Given the description of an element on the screen output the (x, y) to click on. 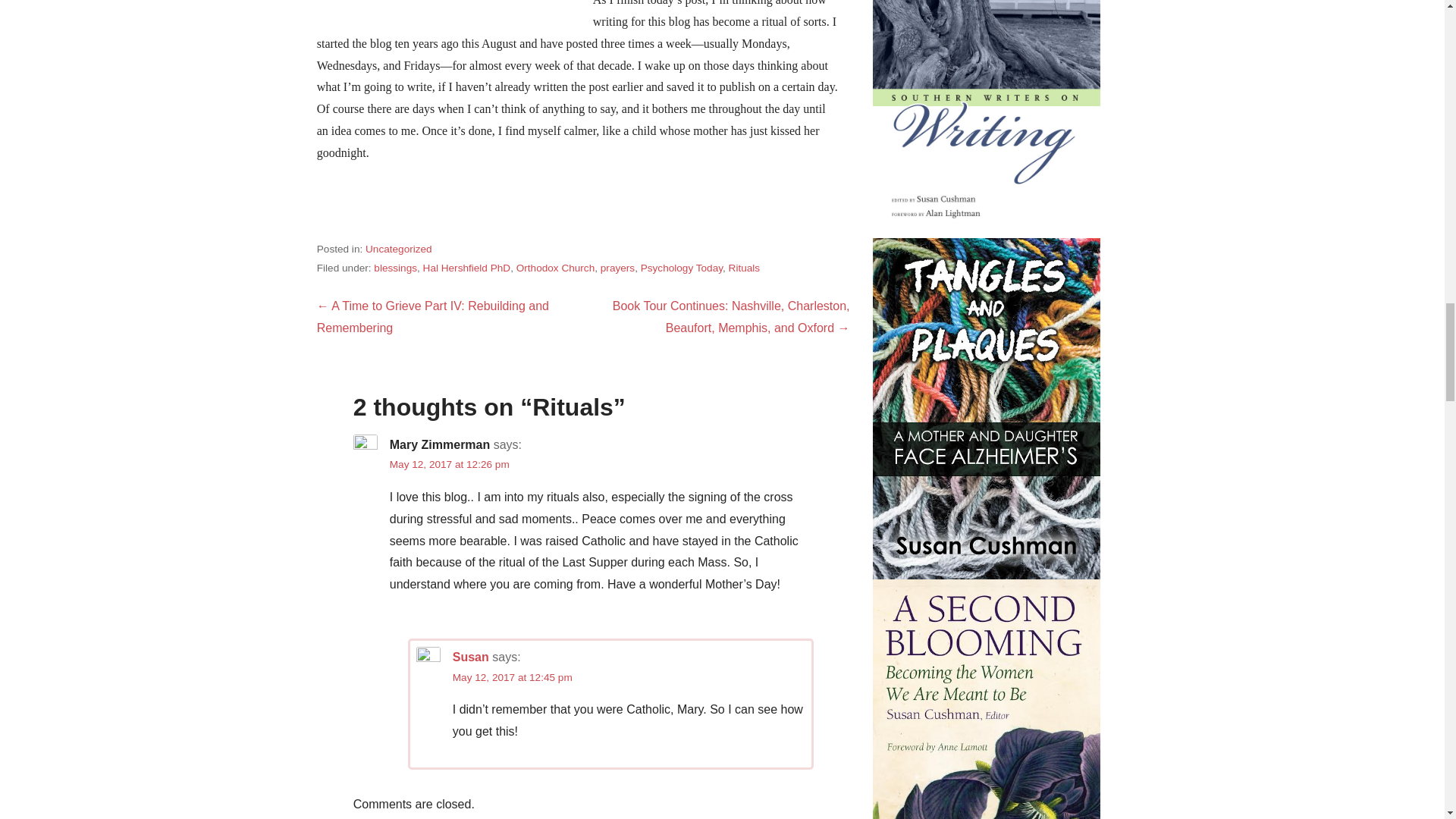
May 12, 2017 at 12:45 pm (512, 677)
Susan (470, 656)
Psychology Today (681, 267)
blessings (395, 267)
May 12, 2017 at 12:26 pm (449, 464)
Uncategorized (398, 248)
prayers (616, 267)
Rituals (744, 267)
Hal Hershfield PhD (467, 267)
Orthodox Church (555, 267)
